Given the description of an element on the screen output the (x, y) to click on. 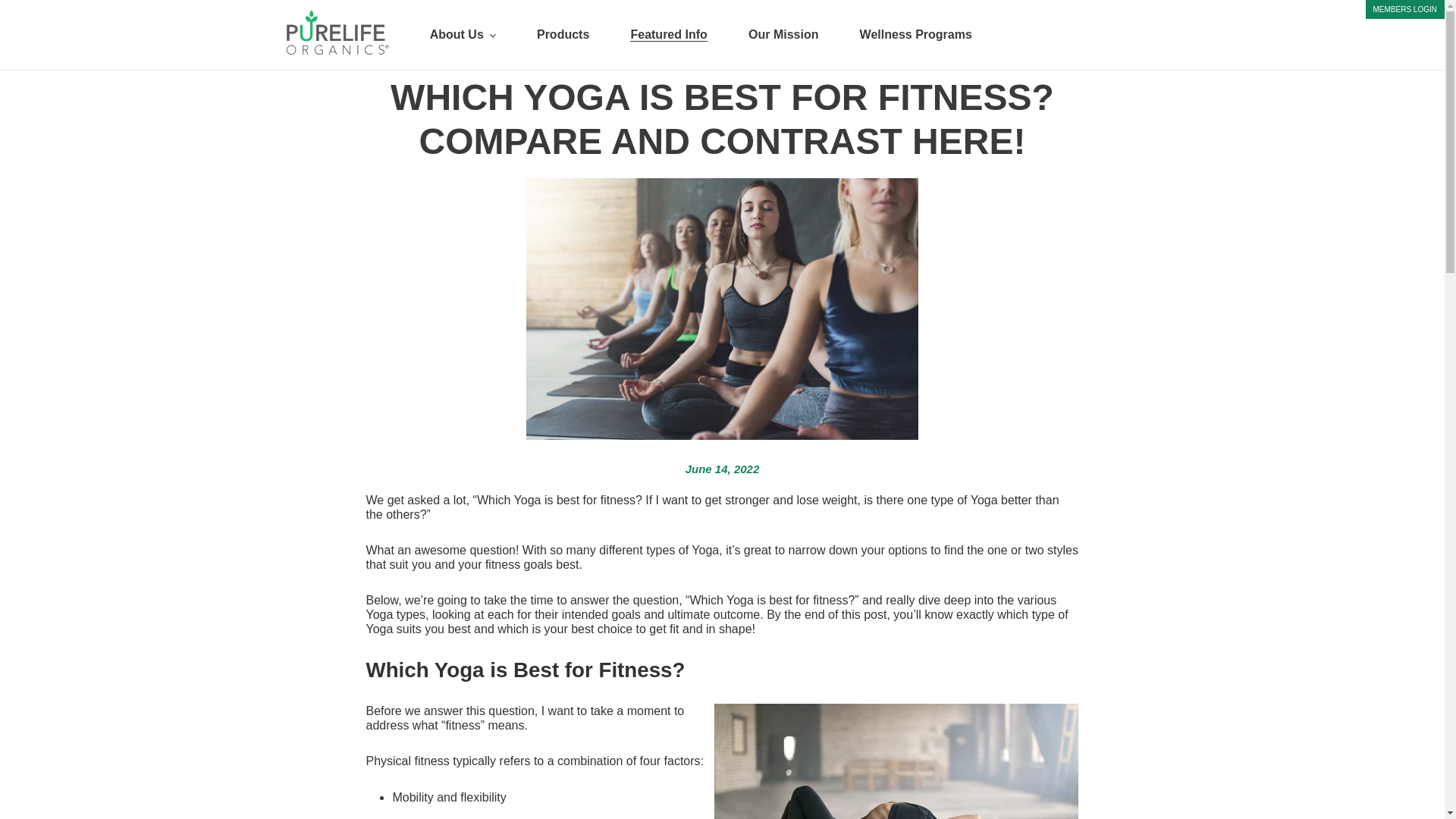
Products (563, 34)
Featured Info (668, 34)
Wellness Programs (916, 34)
About Us (462, 34)
Our Mission (783, 34)
